Given the description of an element on the screen output the (x, y) to click on. 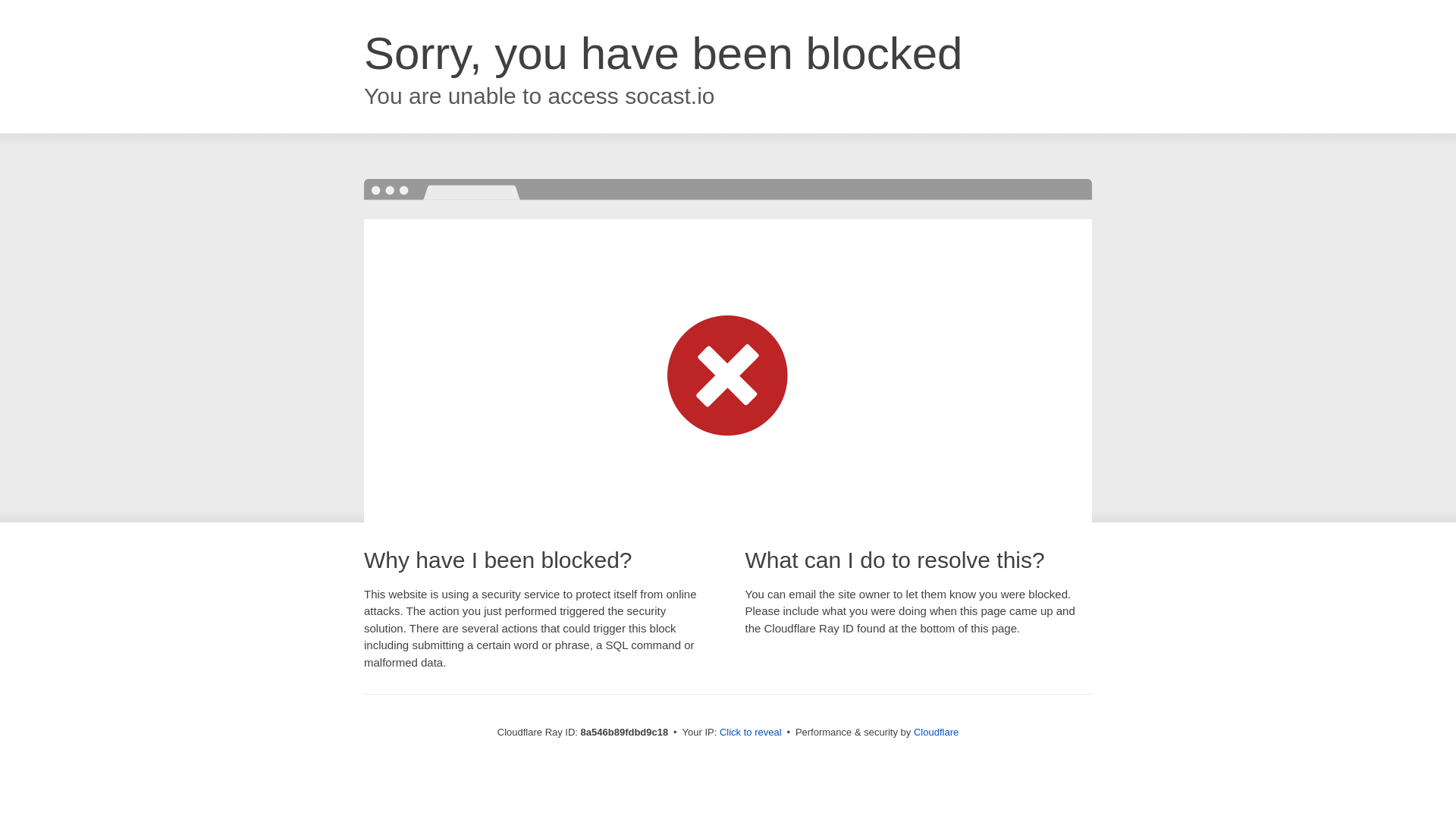
Click to reveal (750, 732)
Cloudflare (936, 731)
